Given the description of an element on the screen output the (x, y) to click on. 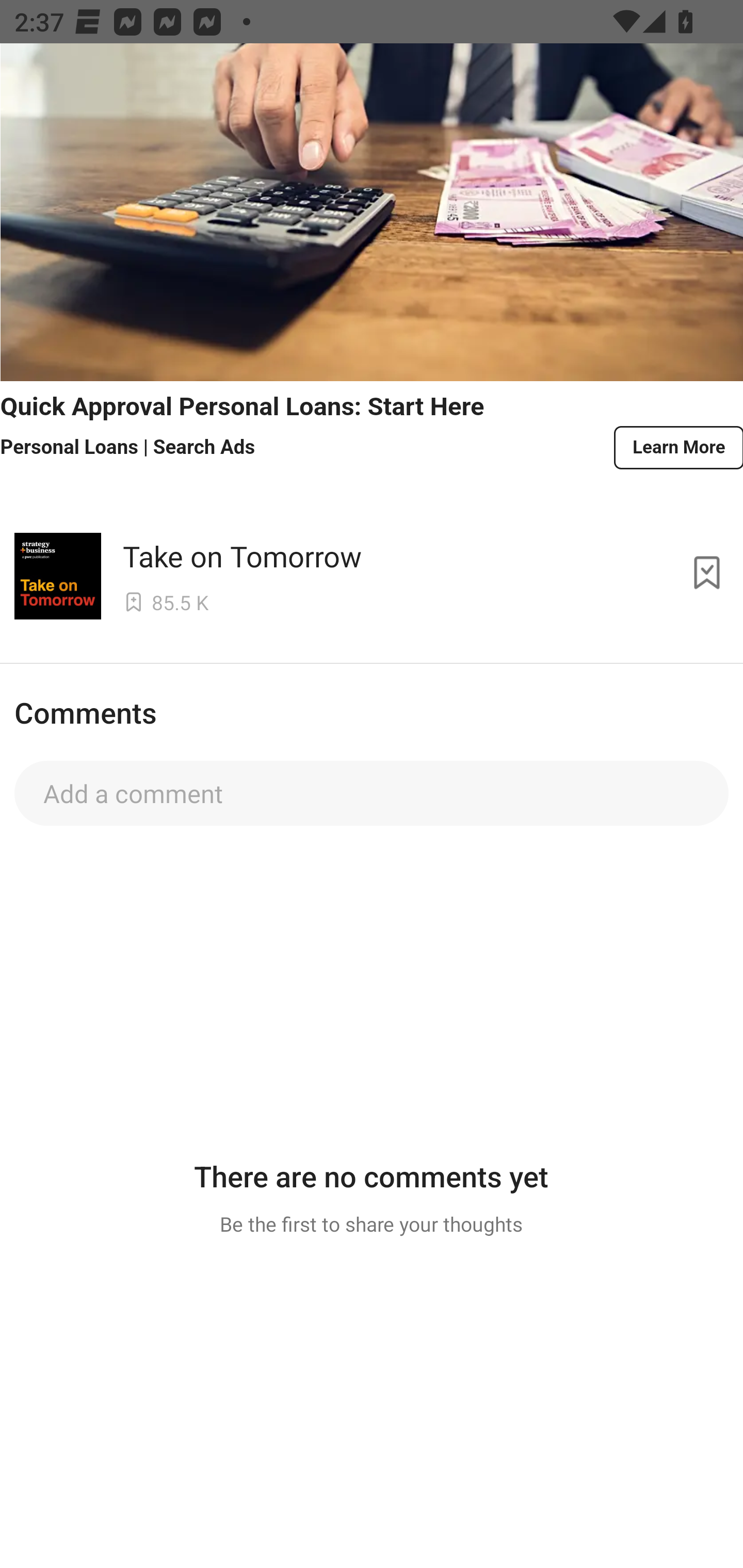
Learn More (677, 447)
Take on Tomorrow  85.5 K Subscribe (371, 572)
Subscribe (706, 572)
Add a comment (371, 793)
